Given the description of an element on the screen output the (x, y) to click on. 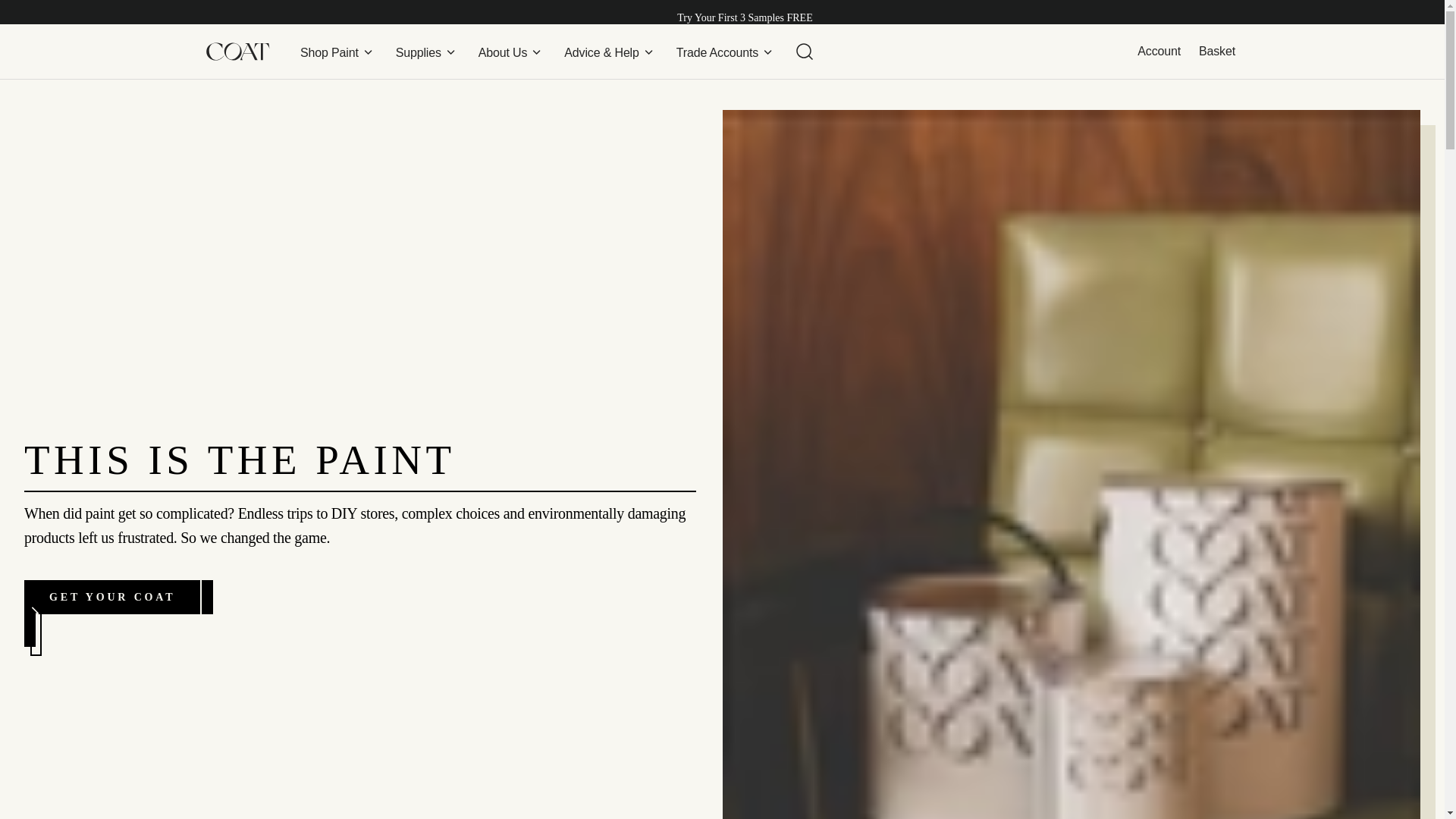
Try Your First 3 Samples FREE (744, 18)
